Given the description of an element on the screen output the (x, y) to click on. 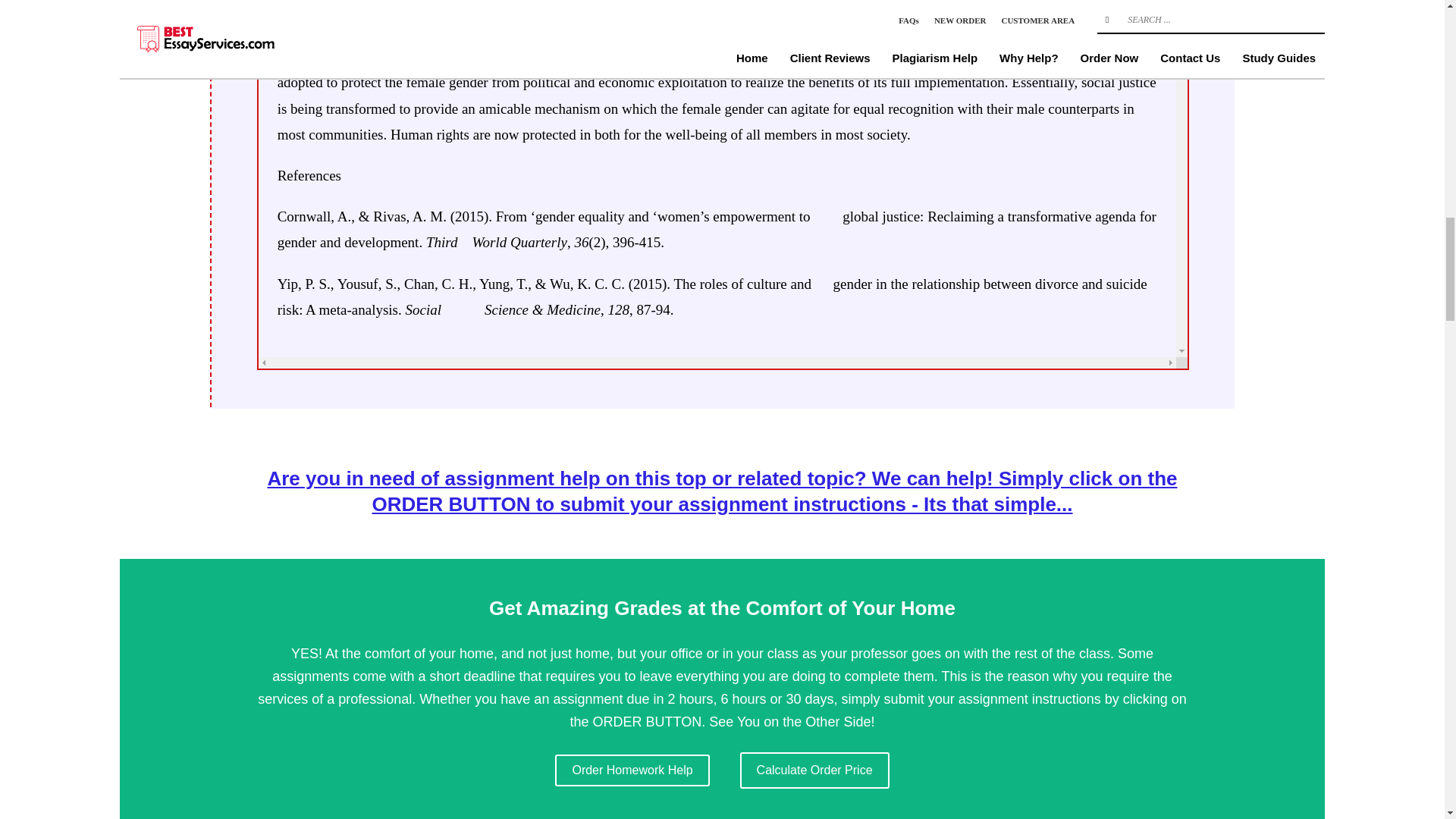
Order Homework Help (631, 770)
Calculate Order Price (814, 770)
